Given the description of an element on the screen output the (x, y) to click on. 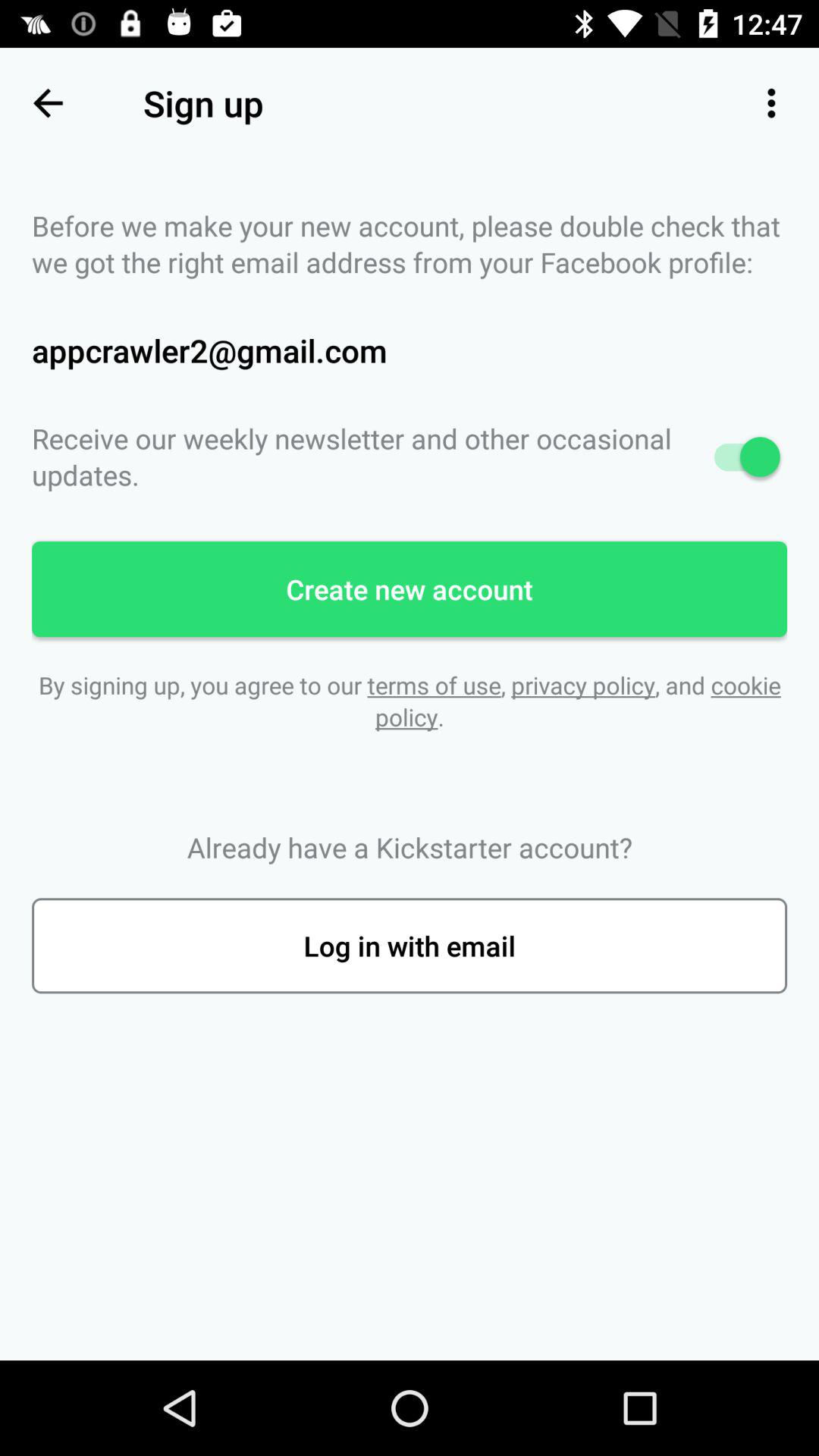
open the icon at the top right corner (771, 103)
